Given the description of an element on the screen output the (x, y) to click on. 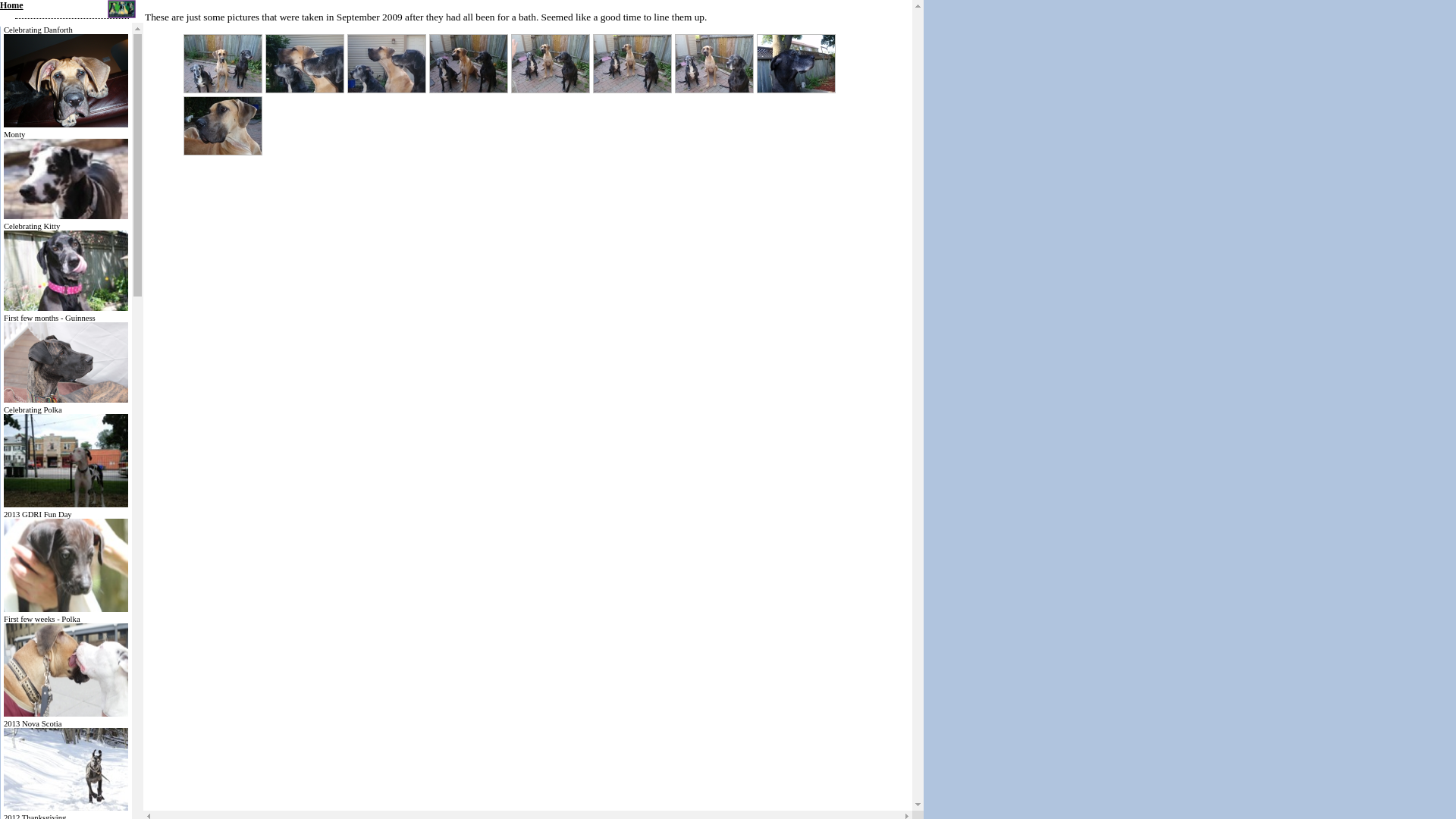
Celebrating Danforth Element type: hover (65, 124)
Polka at the Gerrard off-leash Element type: hover (65, 504)
An introduction to Monty the foster Element type: hover (65, 216)
Great Dane Rescue Inc.'s 2013 fun day Element type: hover (65, 609)
Celebrating Kitty Element type: hover (65, 308)
Deco, Danforth and Kitty - 2009-09-04 - Click to enlarge Element type: hover (468, 63)
Deco, Danforth and Kitty - 2009-09-04 - Click to enlarge Element type: hover (386, 63)
HOLD THAT POSITION! - 2009-09-04 - Click to enlarge Element type: hover (550, 63)
Deco, Danforth and Kitty - 2009-09-04 - Click to enlarge Element type: hover (713, 63)
Danforth - 2009-09-04 - Click to enlarge Element type: hover (222, 125)
Home Element type: text (11, 5)
Kitty - 2009-09-04 - Click to enlarge Element type: hover (795, 63)
Deco, Danforth and Kitty - 2009-09-04 - Click to enlarge Element type: hover (304, 63)
Polka is introduced to our world Element type: hover (65, 713)
Guinness is introduced to our world Element type: hover (65, 399)
A trip out to Nova Scotia, February 2013 Element type: hover (65, 807)
Deco, Danforth and Kitty - 2009-09-04 - Click to enlarge Element type: hover (632, 63)
